Given the description of an element on the screen output the (x, y) to click on. 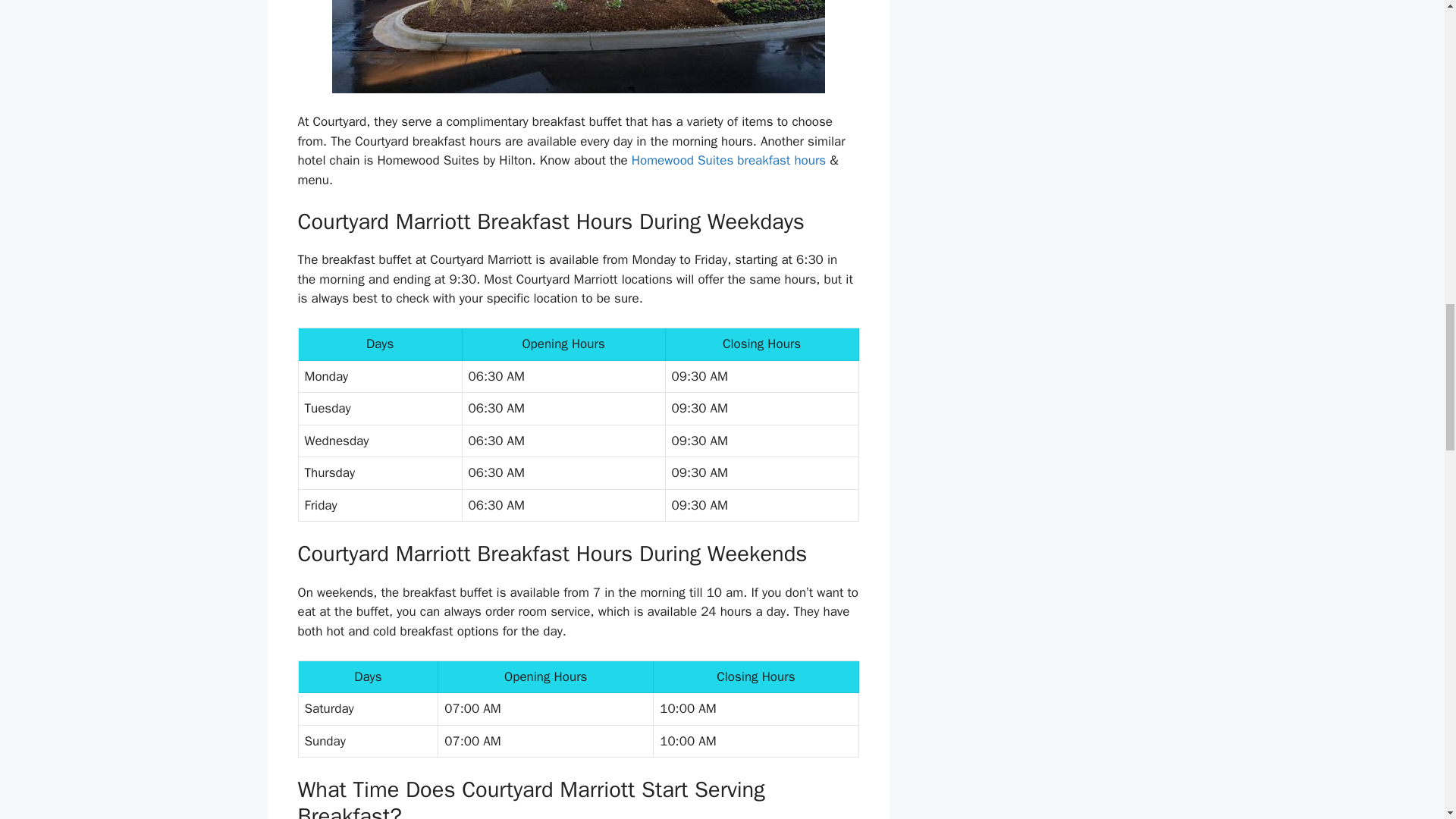
Homewood Suites breakfast hours (728, 160)
